Given the description of an element on the screen output the (x, y) to click on. 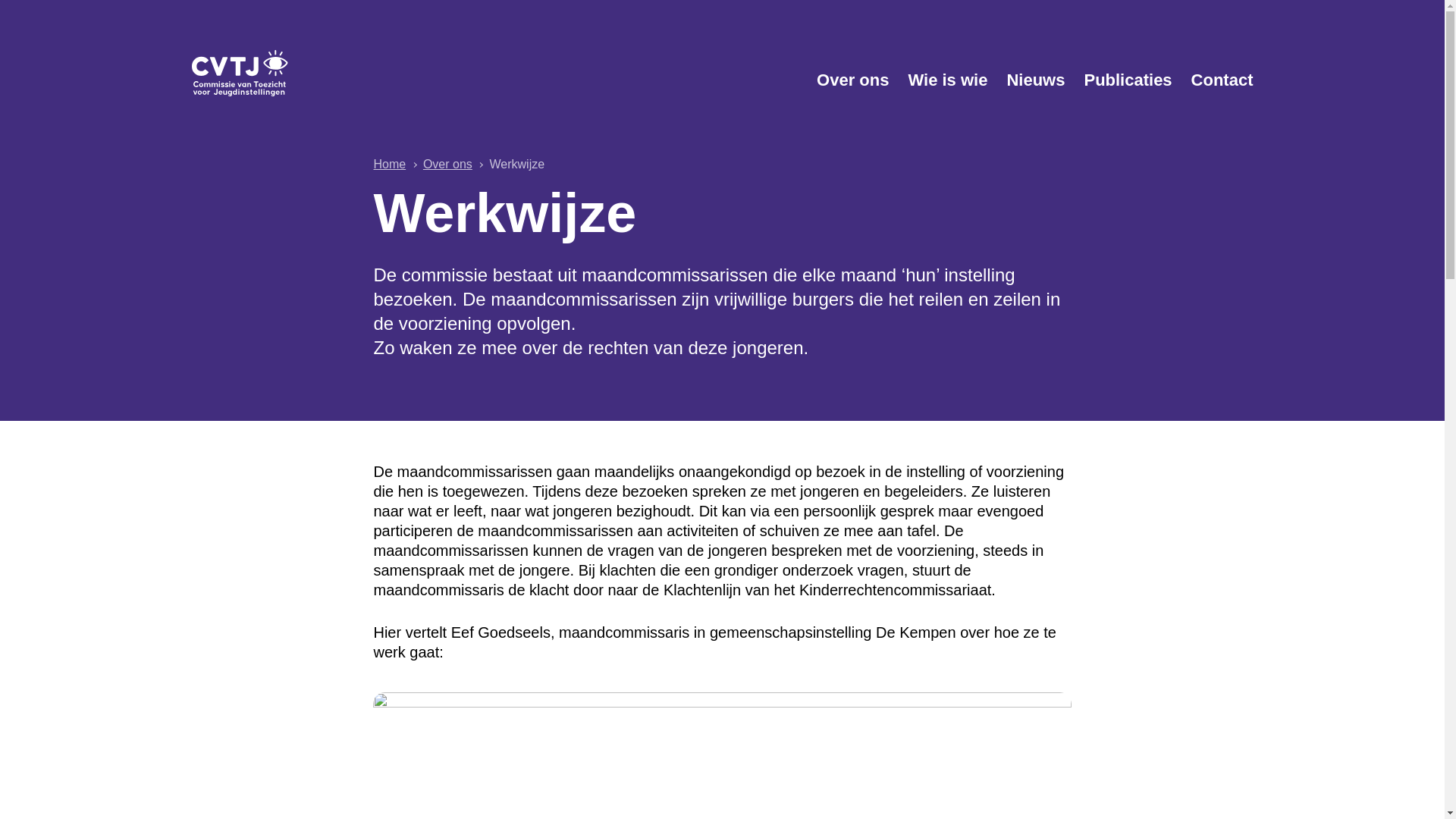
Home Element type: text (389, 163)
Over ons Element type: text (447, 163)
Wie is wie Element type: text (947, 80)
Nieuws Element type: text (1035, 80)
Home Element type: hover (312, 73)
Publicaties Element type: text (1127, 80)
Contact Element type: text (1222, 80)
Over ons Element type: text (852, 80)
